Given the description of an element on the screen output the (x, y) to click on. 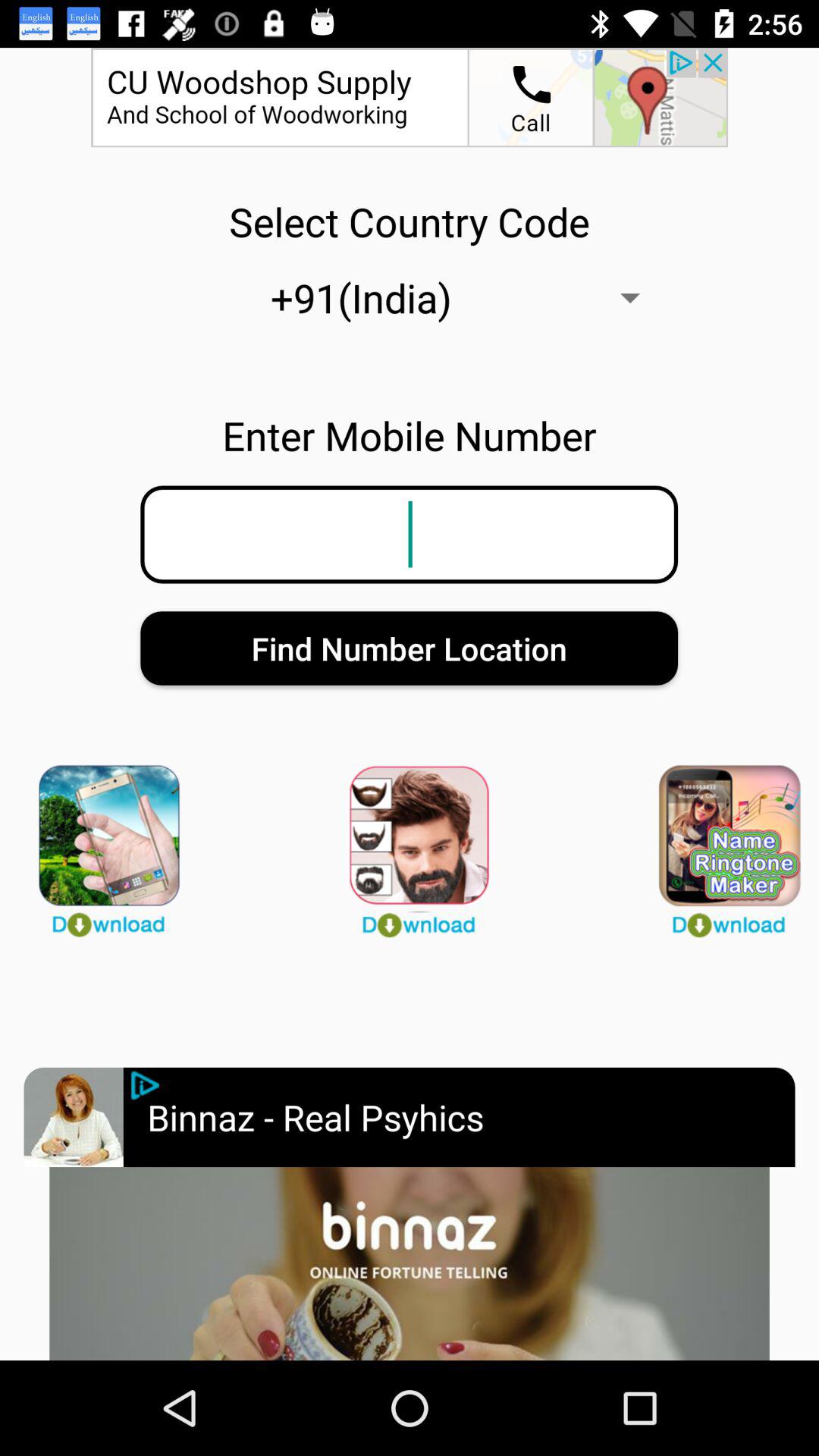
download more facial hair options (409, 844)
